Given the description of an element on the screen output the (x, y) to click on. 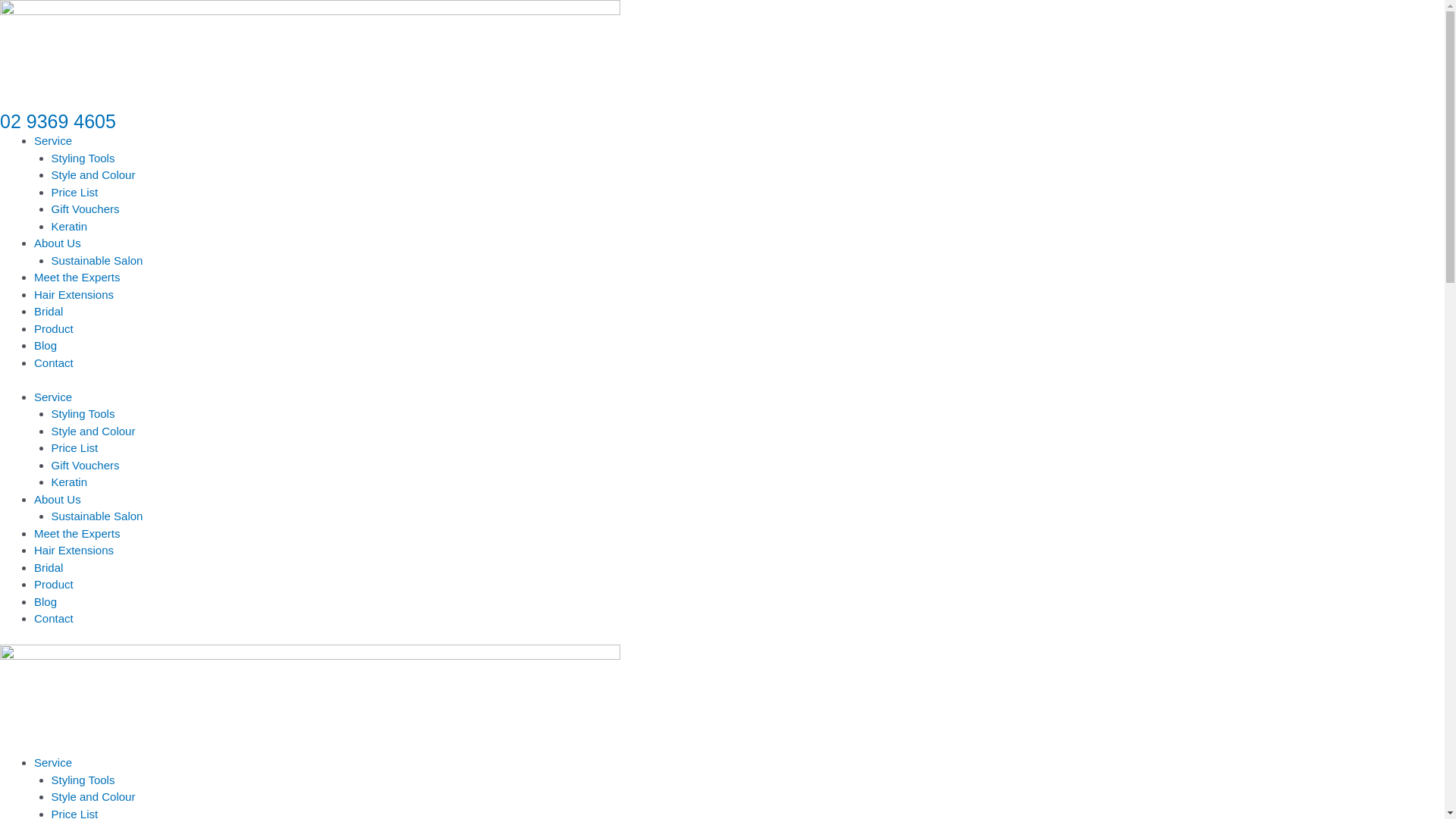
Blog Element type: text (45, 600)
Style and Colour Element type: text (93, 796)
Keratin Element type: text (69, 481)
Gift Vouchers Element type: text (85, 464)
Style and Colour Element type: text (93, 430)
Blog Element type: text (45, 344)
Meet the Experts Element type: text (76, 532)
Contact Element type: text (53, 362)
Service Element type: text (53, 395)
Sustainable Salon Element type: text (97, 259)
Styling Tools Element type: text (83, 157)
About Us Element type: text (57, 242)
Sustainable Salon Element type: text (97, 515)
Bridal Element type: text (48, 310)
Price List Element type: text (74, 191)
Product Element type: text (53, 583)
Bridal Element type: text (48, 567)
Styling Tools Element type: text (83, 779)
Style and Colour Element type: text (93, 174)
Hair Extensions Element type: text (73, 549)
Keratin Element type: text (69, 225)
Meet the Experts Element type: text (76, 276)
Product Element type: text (53, 327)
Service Element type: text (53, 140)
Contact Element type: text (53, 617)
About Us Element type: text (57, 498)
Service Element type: text (53, 762)
Gift Vouchers Element type: text (85, 208)
Price List Element type: text (74, 447)
02 9369 4605 Element type: text (58, 120)
Styling Tools Element type: text (83, 413)
Hair Extensions Element type: text (73, 294)
